Given the description of an element on the screen output the (x, y) to click on. 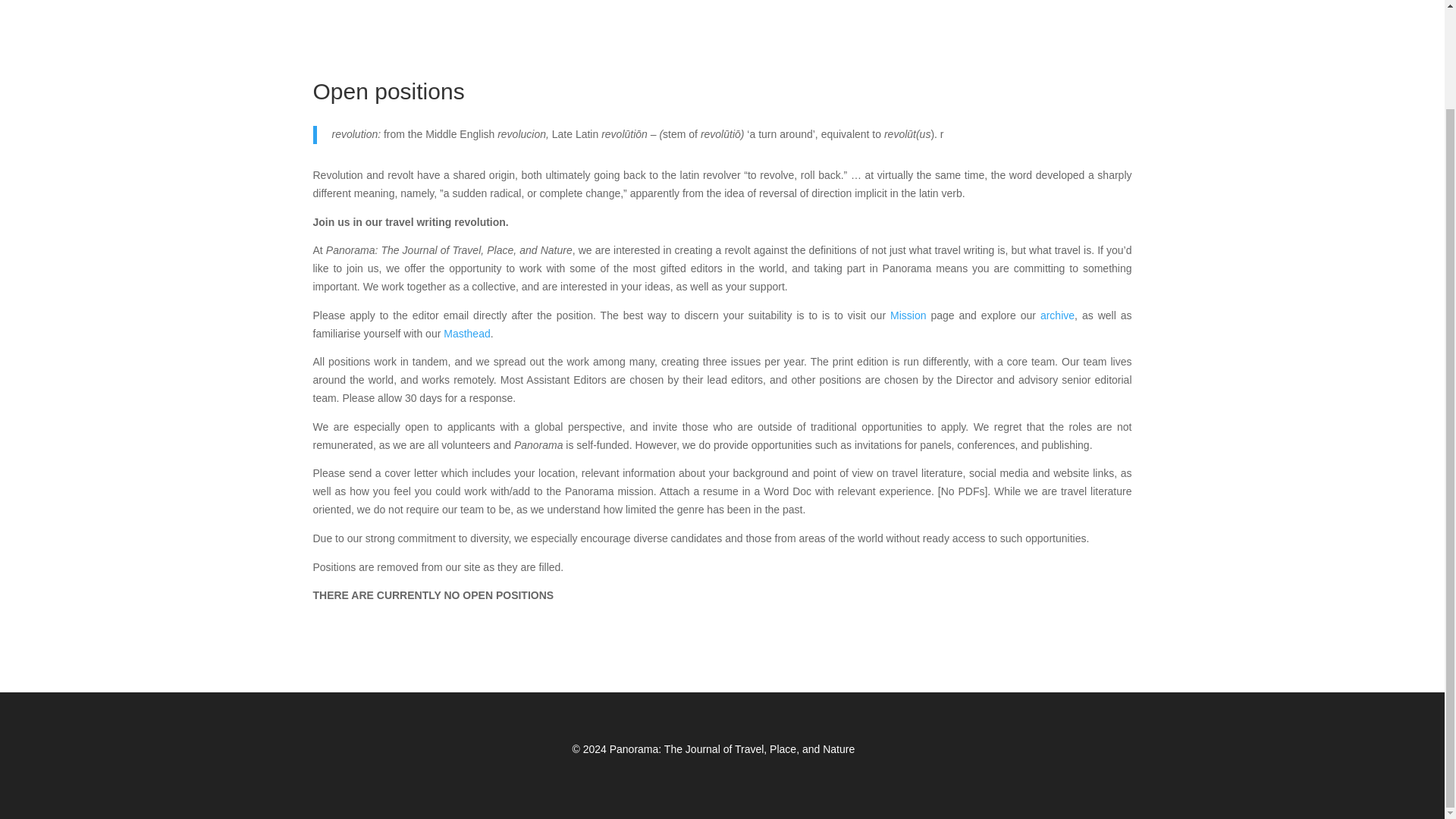
Mission (907, 315)
Masthead (466, 333)
archive (1057, 315)
